Given the description of an element on the screen output the (x, y) to click on. 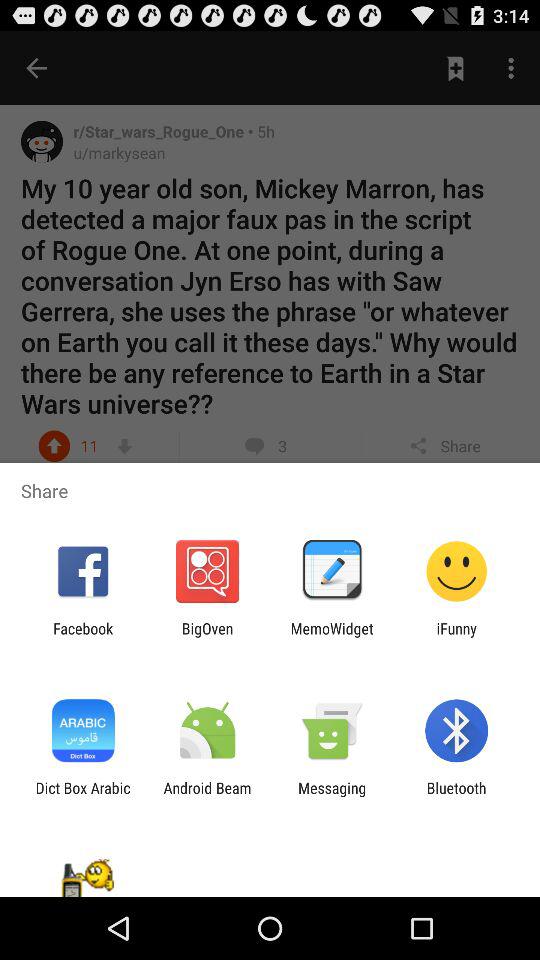
flip to bigoven (207, 637)
